Given the description of an element on the screen output the (x, y) to click on. 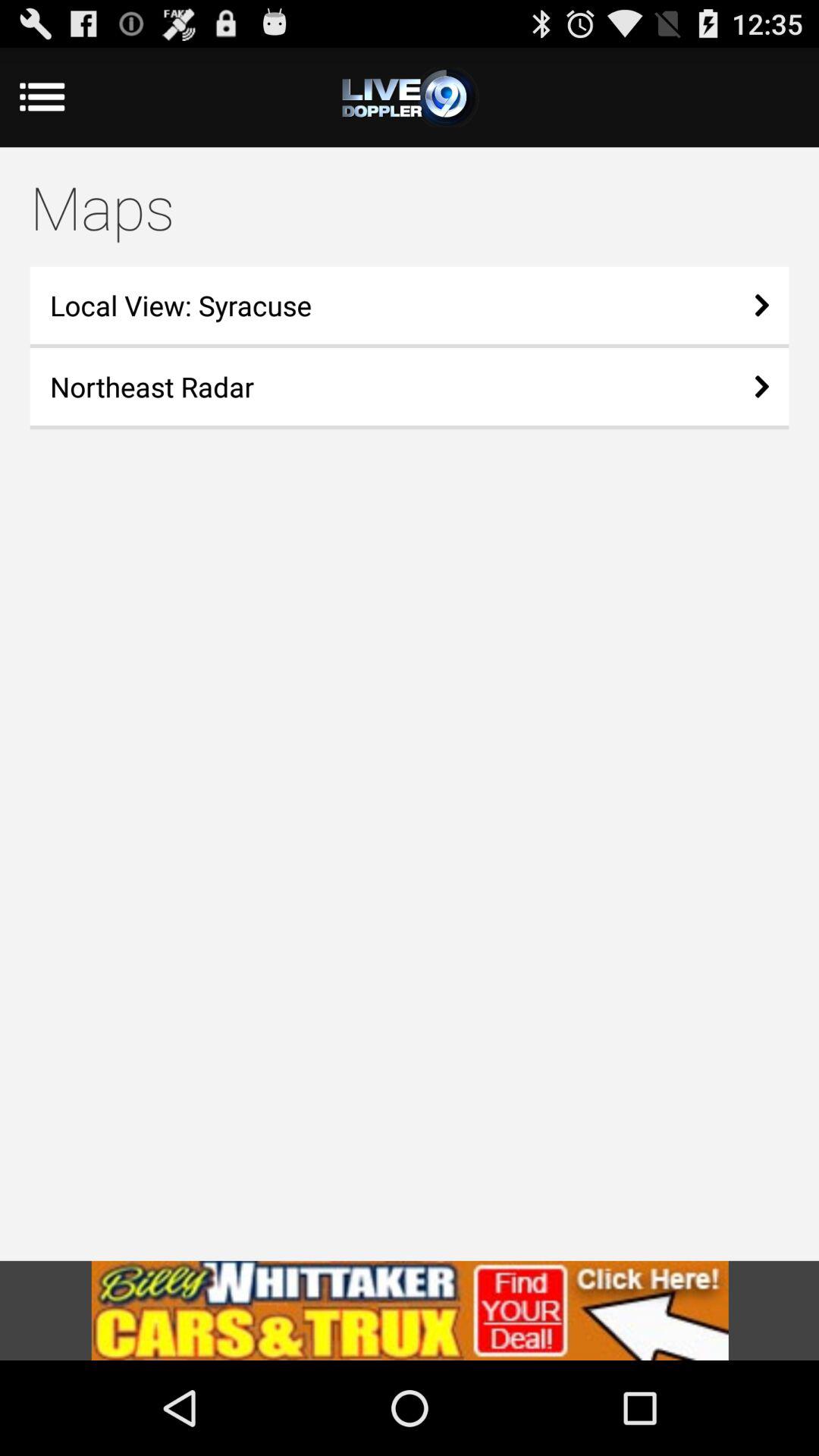
menu bar (409, 97)
